Given the description of an element on the screen output the (x, y) to click on. 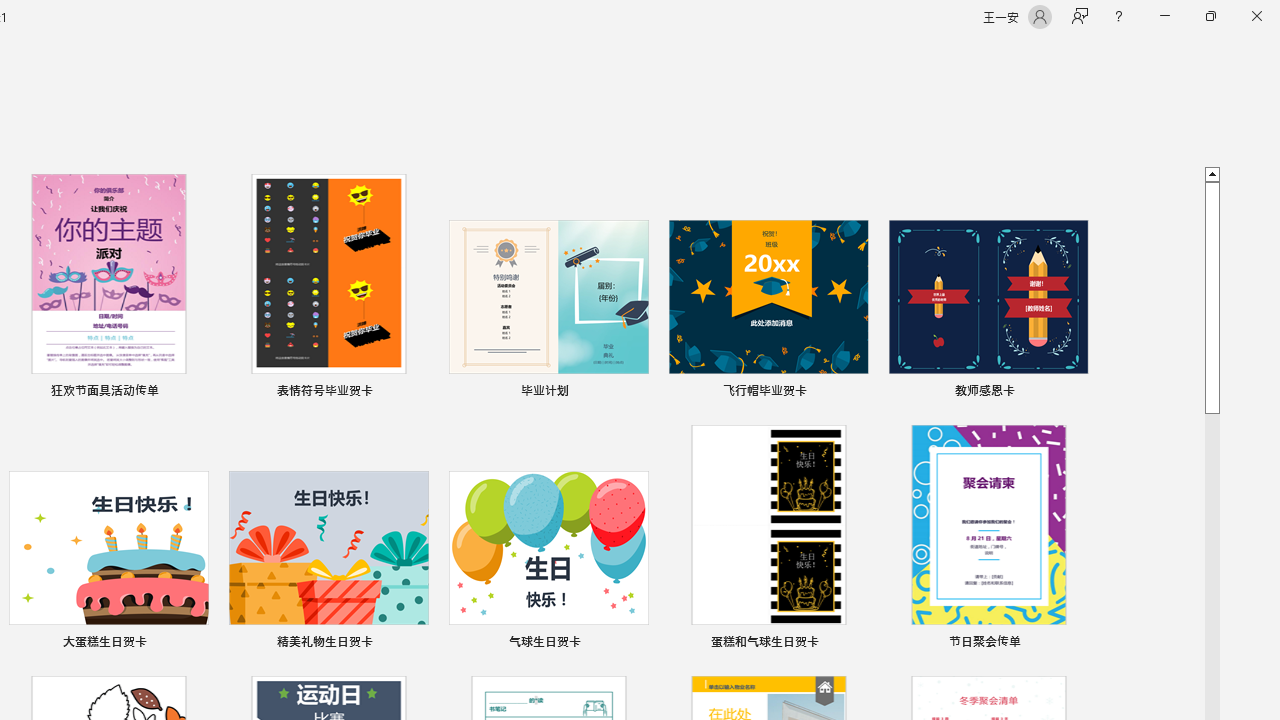
Line up (1212, 173)
Pin to list (1075, 643)
